Given the description of an element on the screen output the (x, y) to click on. 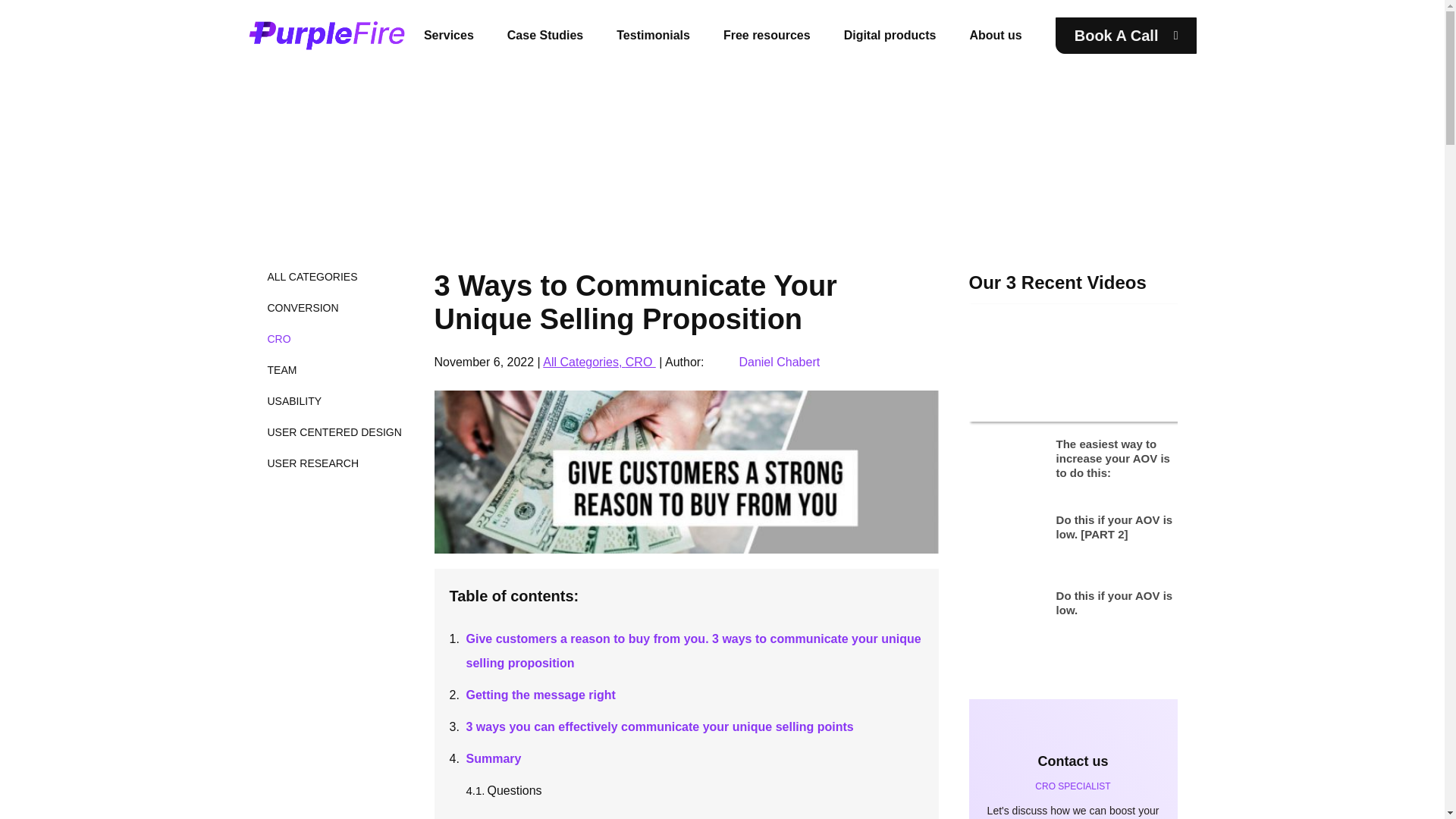
Testimonials (652, 34)
Case Studies (544, 34)
ALL CATEGORIES (311, 276)
CONVERSION (301, 307)
Digital products (890, 34)
TEAM (281, 369)
Book A Call (1125, 35)
Free resources (766, 34)
USABILITY (293, 400)
About us (995, 34)
